Given the description of an element on the screen output the (x, y) to click on. 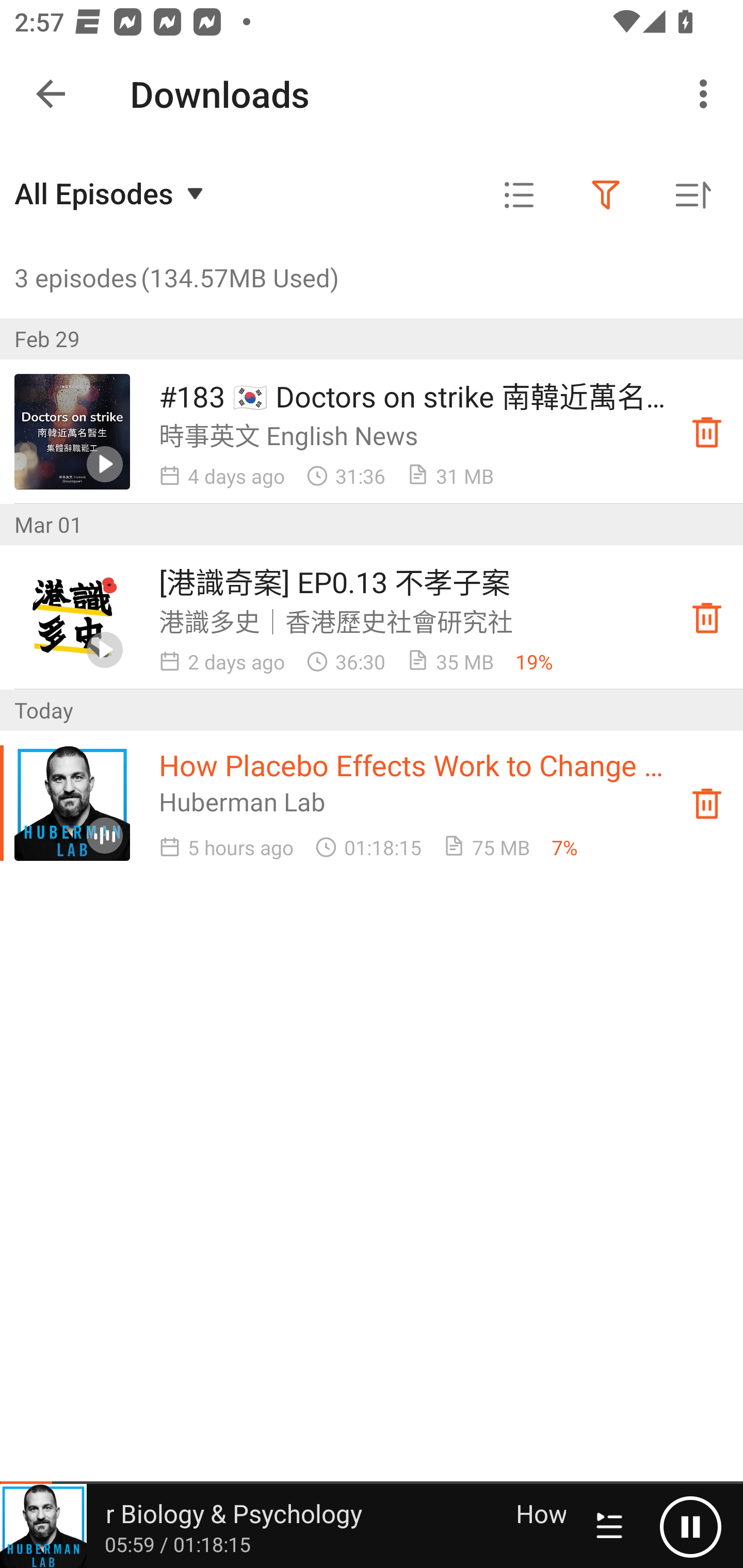
5.0 Downloading 1 episode VIEW (371, 88)
Navigate up (50, 93)
More options (706, 93)
All Episodes (111, 192)
 (518, 195)
 (605, 195)
 Sorted by oldest first (692, 195)
Downloaded (706, 431)
Downloaded (706, 617)
Downloaded (706, 802)
Pause (690, 1526)
